Given the description of an element on the screen output the (x, y) to click on. 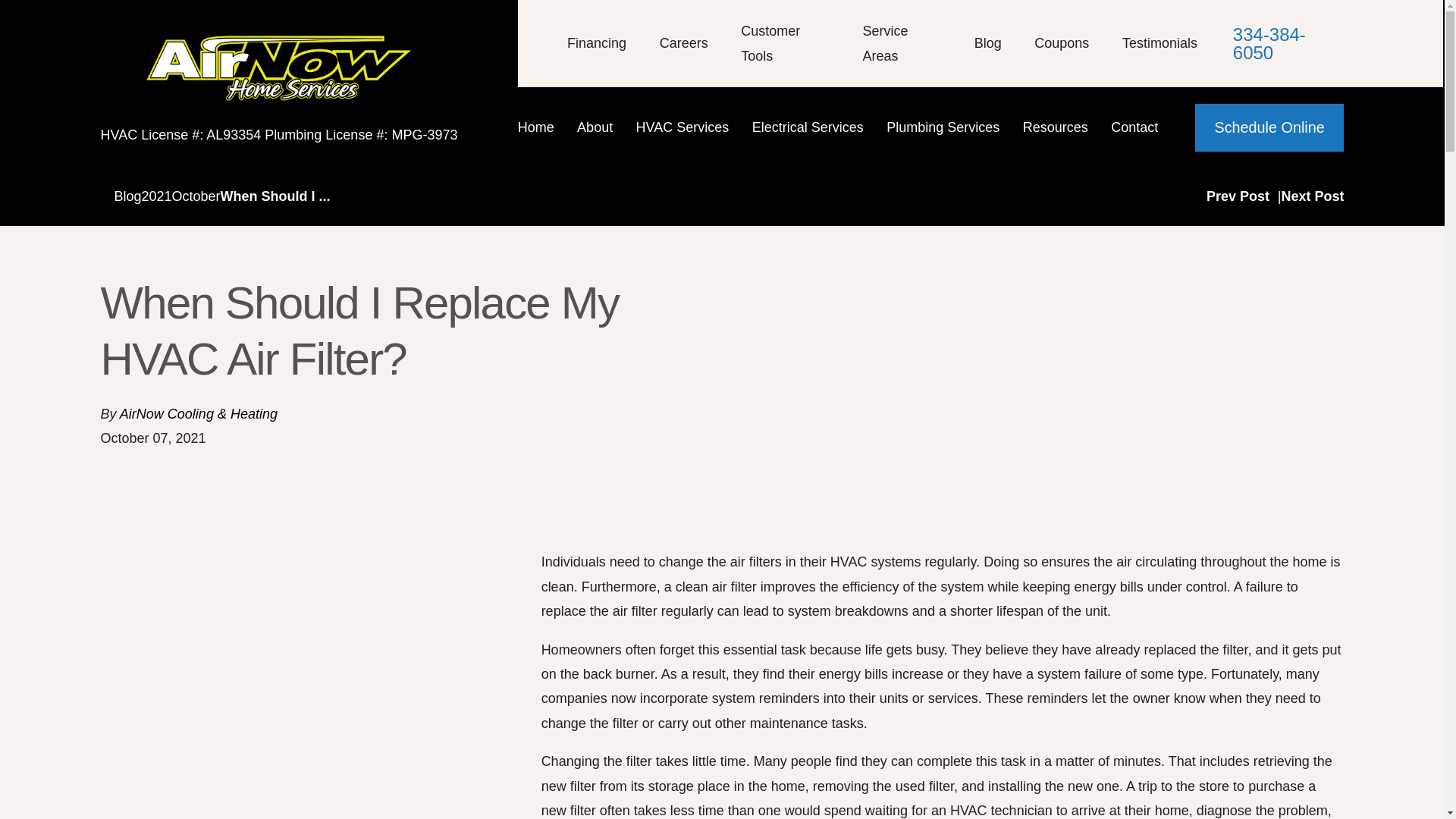
Testimonials (1159, 43)
Careers (683, 43)
HVAC Services (688, 127)
Home (542, 127)
About (600, 127)
Coupons (1061, 43)
Financing (596, 43)
Customer Tools (770, 43)
334-384-6050 (1288, 43)
Go Home (106, 196)
